Given the description of an element on the screen output the (x, y) to click on. 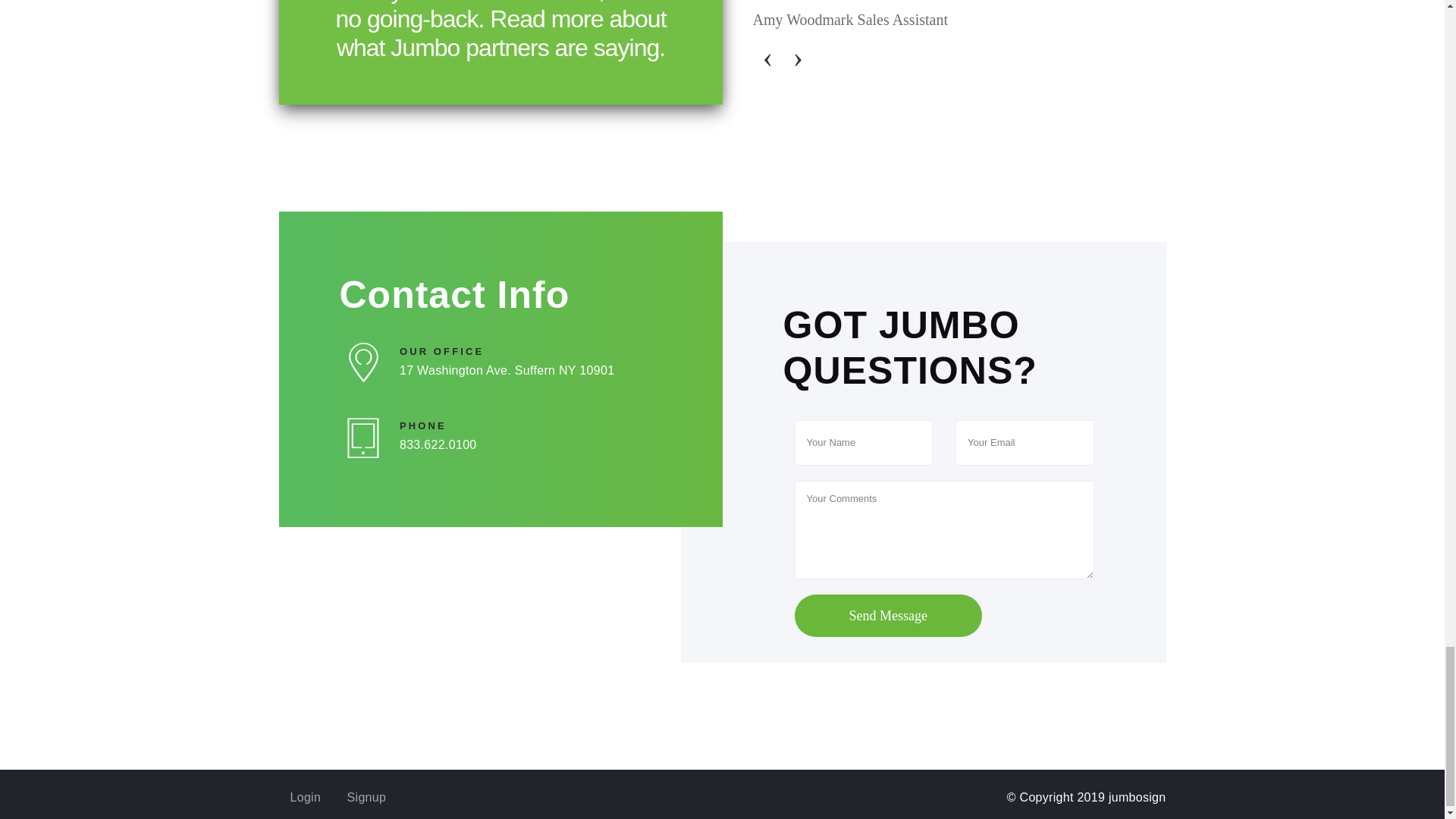
833.622.0100 (530, 444)
17 Washington Ave. Suffern NY 10901 (530, 370)
Login (304, 797)
Signup (367, 797)
Send Message (887, 615)
